Given the description of an element on the screen output the (x, y) to click on. 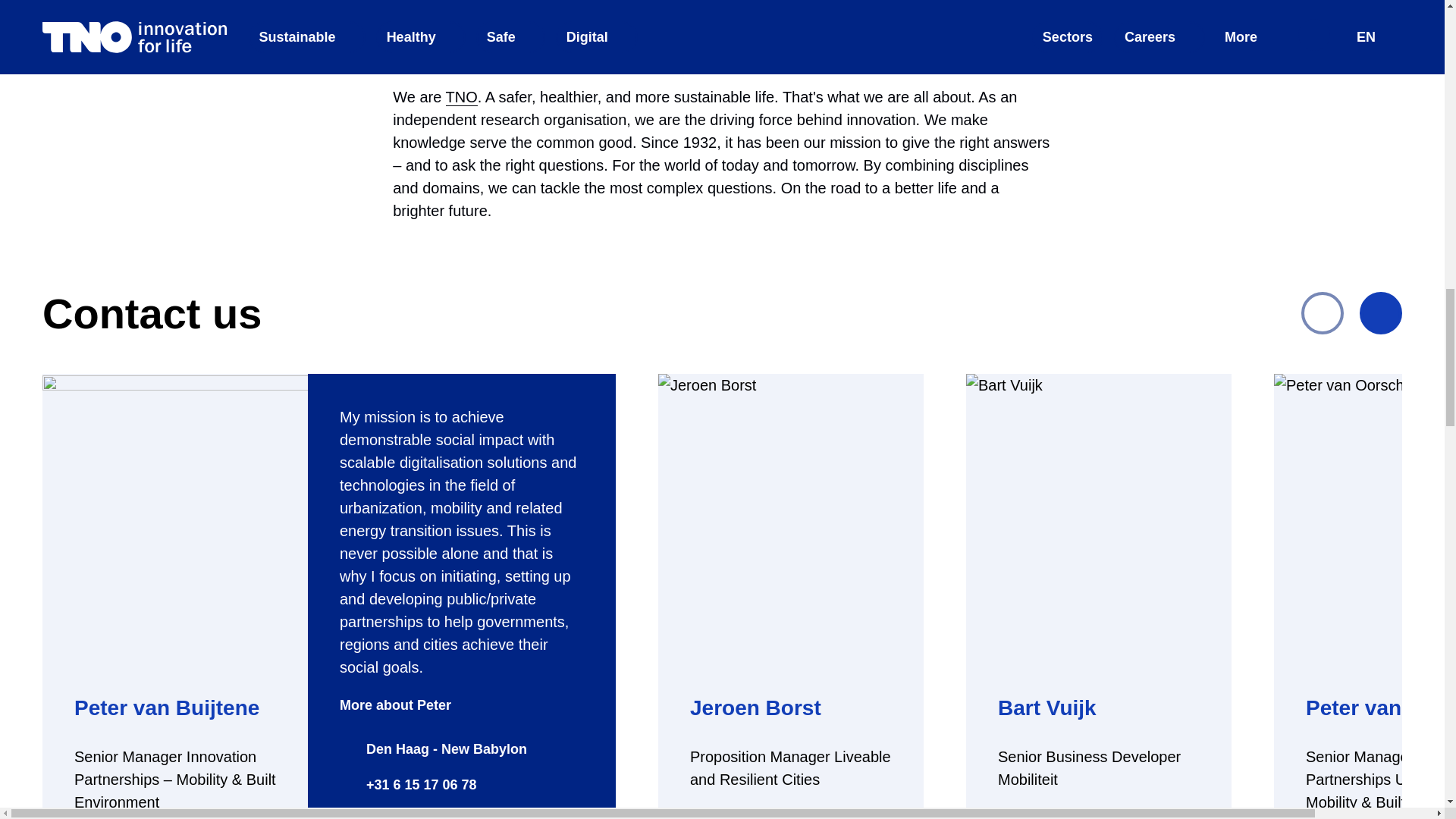
TNO (461, 97)
Email Peter (390, 814)
Den Haag - New Babylon (433, 749)
More about Peter (407, 704)
